Given the description of an element on the screen output the (x, y) to click on. 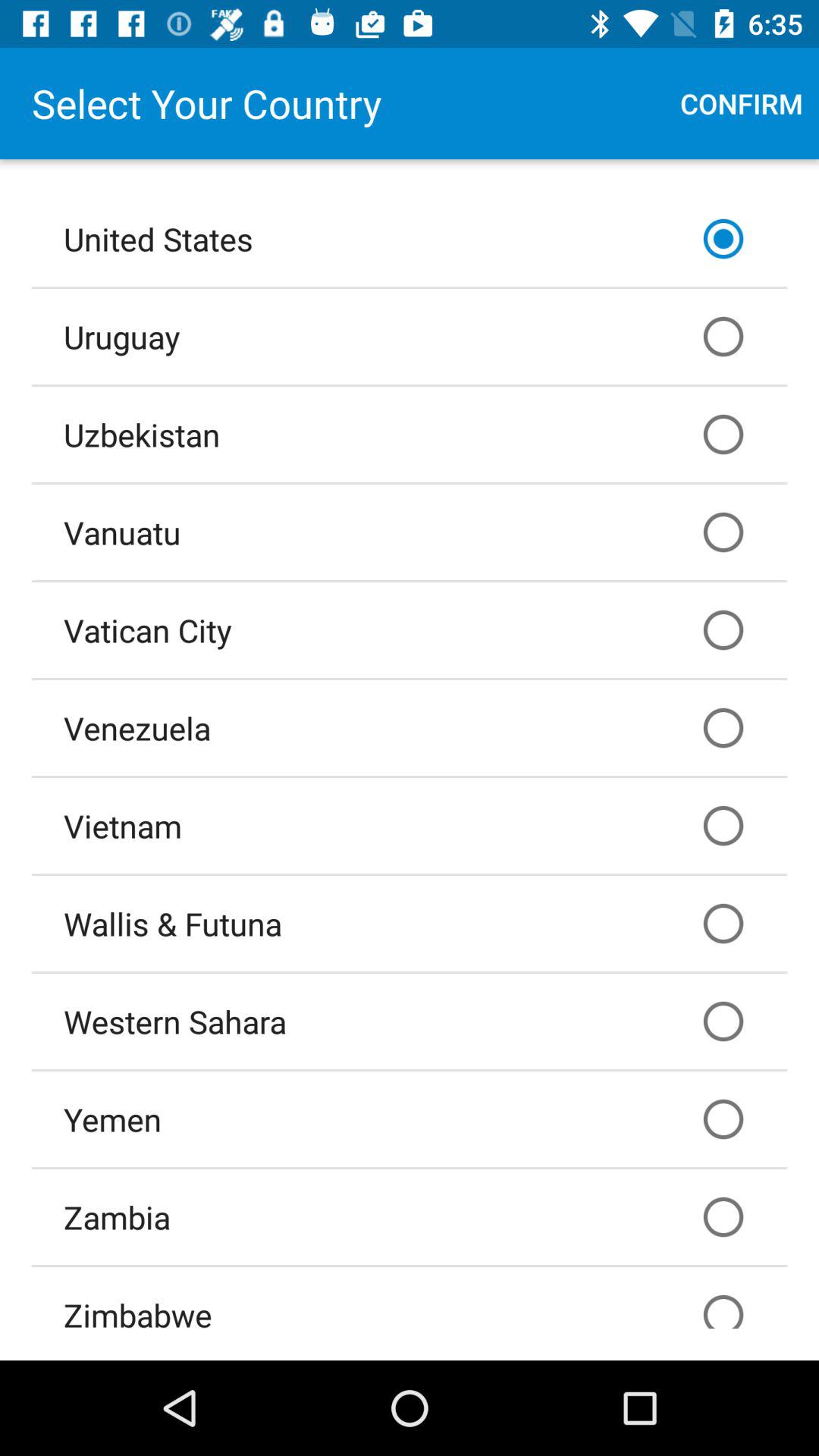
swipe until the zimbabwe (409, 1297)
